Given the description of an element on the screen output the (x, y) to click on. 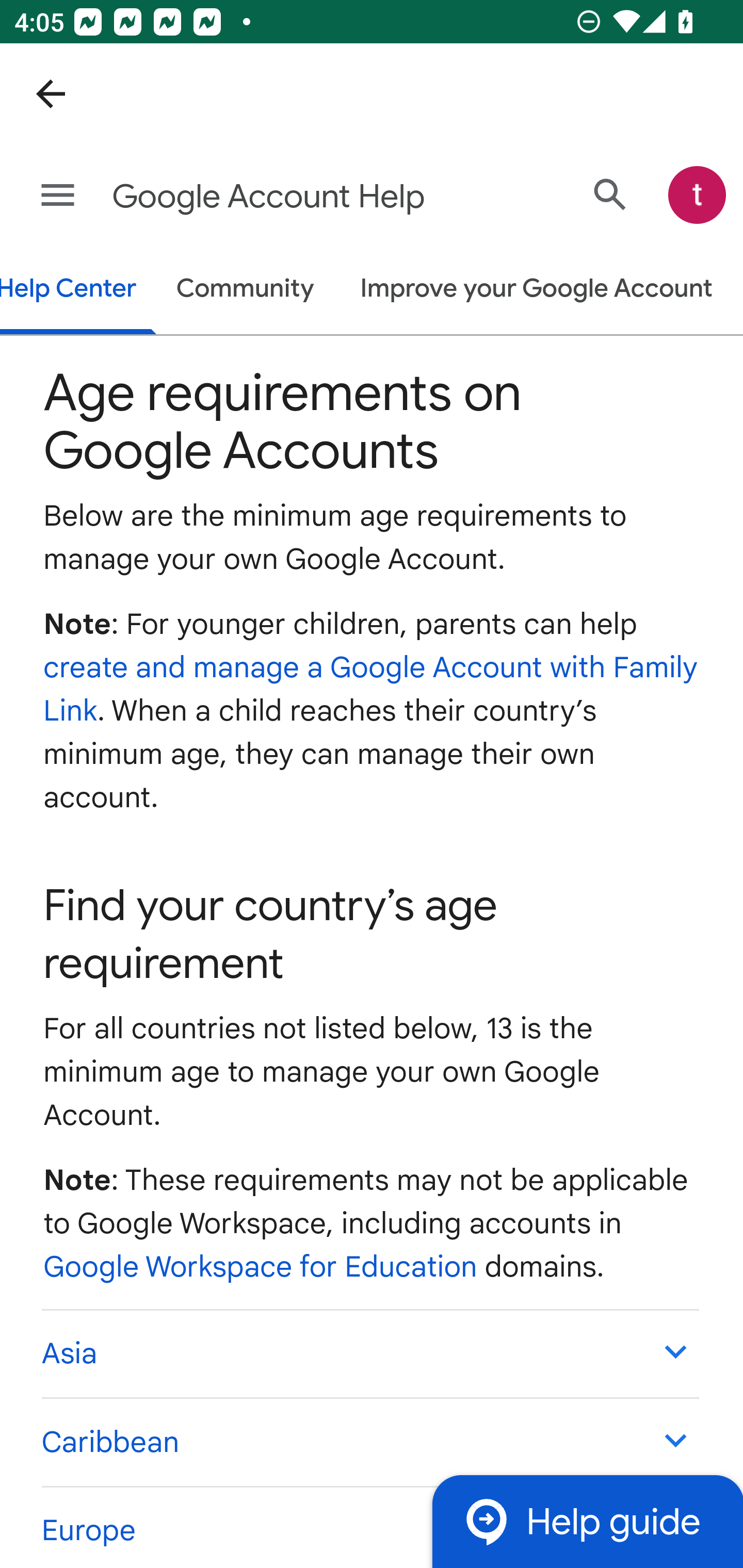
Navigate up (50, 93)
Main menu (58, 195)
Google Account Help (292, 197)
Search Help Center (610, 195)
Help Center (78, 290)
Community (245, 289)
Improve your Google Account (536, 289)
Google Workspace for Education (260, 1267)
Asia (369, 1352)
Caribbean (369, 1442)
Help guide (587, 1520)
Europe (369, 1525)
